Given the description of an element on the screen output the (x, y) to click on. 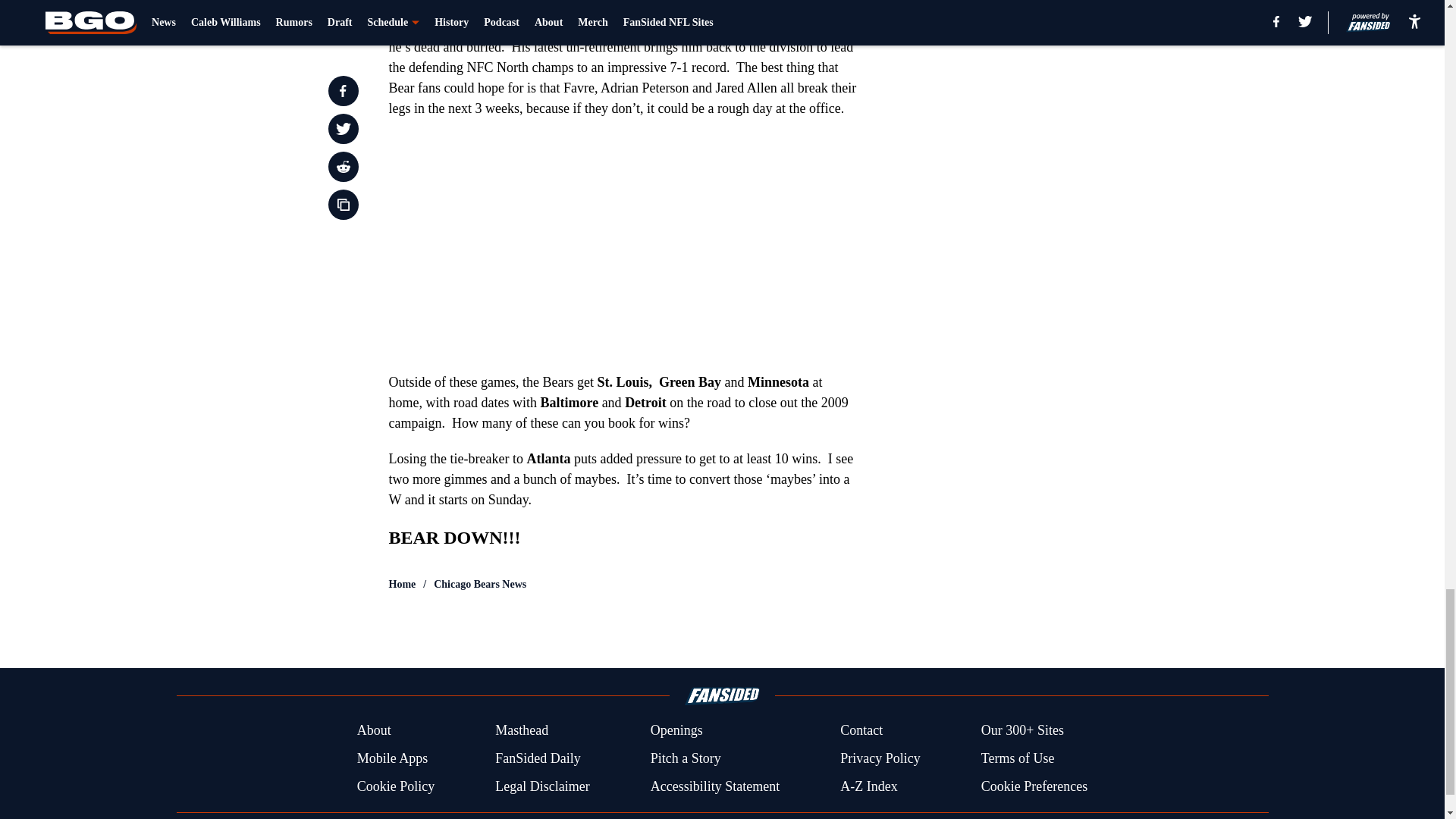
Terms of Use (1017, 758)
Legal Disclaimer (542, 786)
Pitch a Story (685, 758)
FanSided Daily (537, 758)
Cookie Policy (395, 786)
Home (401, 584)
Mobile Apps (392, 758)
Masthead (521, 730)
Contact (861, 730)
Chicago Bears News (479, 584)
Privacy Policy (880, 758)
Openings (676, 730)
About (373, 730)
